Given the description of an element on the screen output the (x, y) to click on. 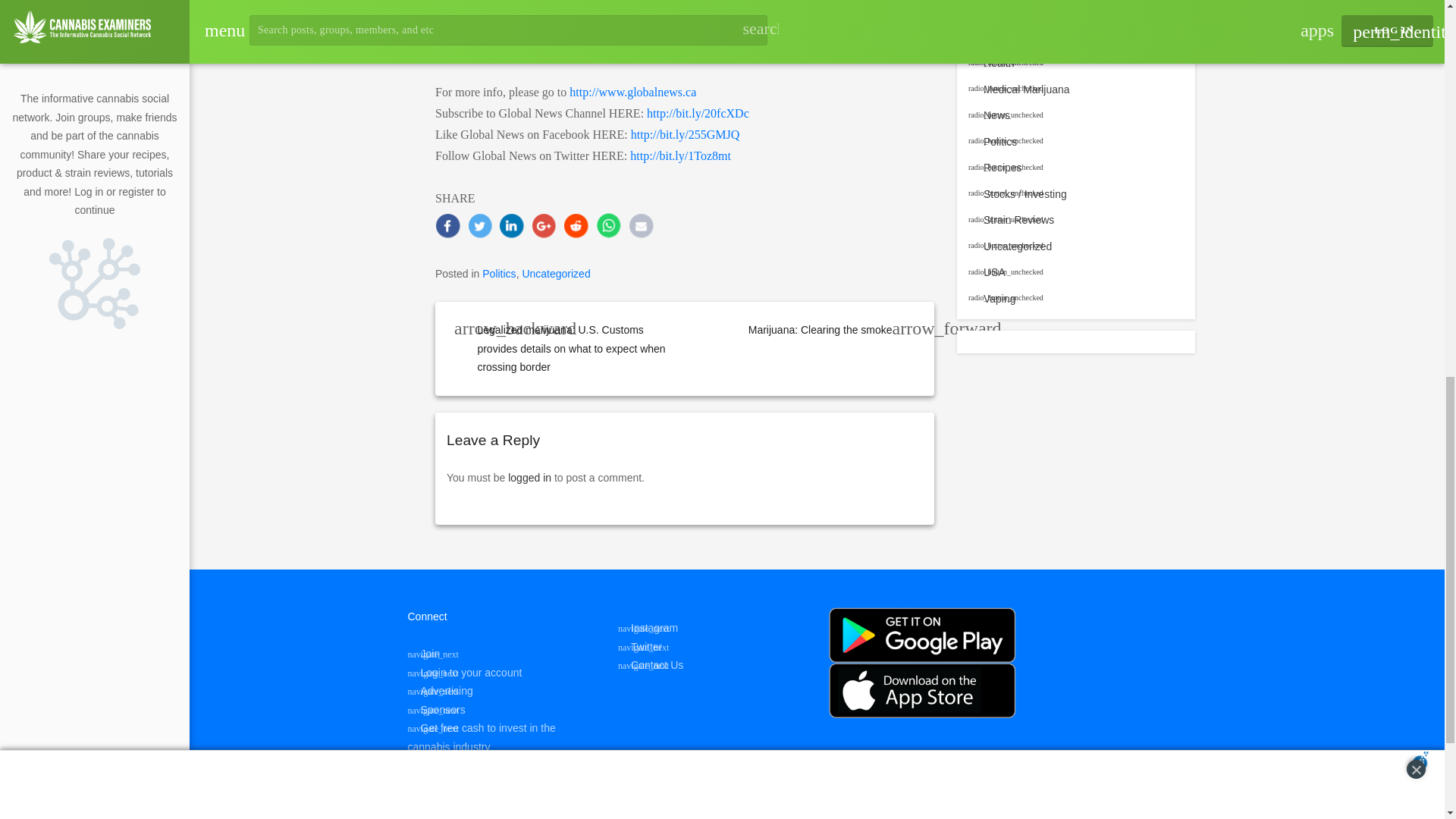
Share on LinkedIn (511, 225)
Share on Reddit (576, 225)
Share on Twitter (479, 225)
Share on Facebook (447, 225)
